Given the description of an element on the screen output the (x, y) to click on. 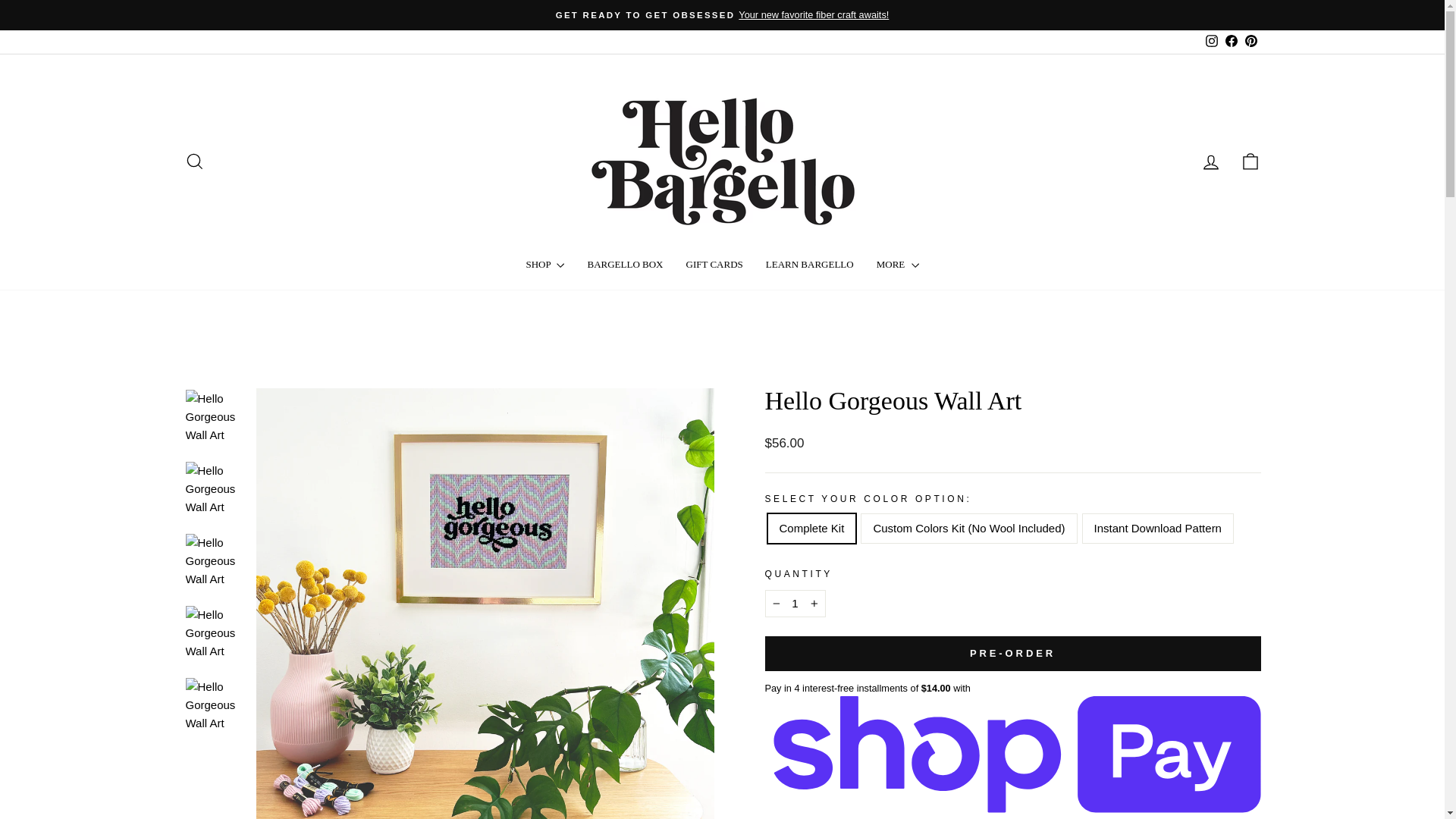
ICON-SEARCH (194, 160)
1 (1210, 160)
instagram (794, 603)
ACCOUNT (1211, 40)
Complete Kit (1210, 161)
